Given the description of an element on the screen output the (x, y) to click on. 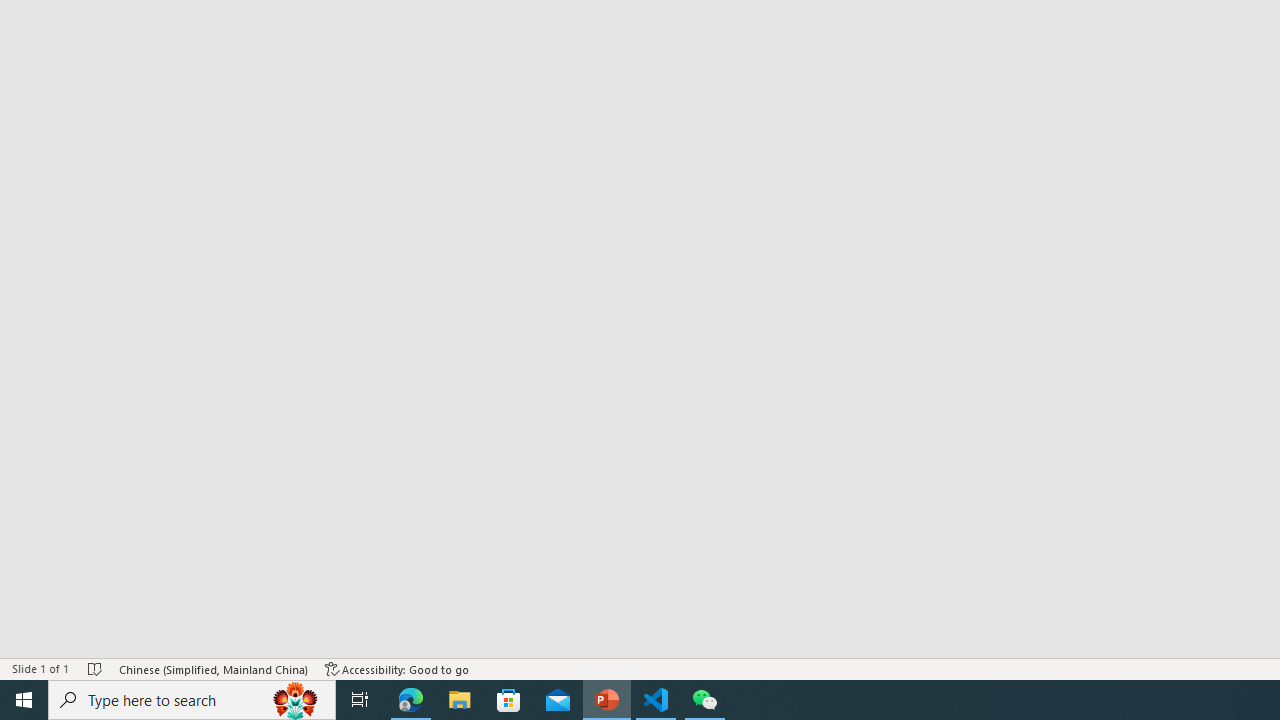
Accessibility Checker Accessibility: Good to go (397, 668)
